Given the description of an element on the screen output the (x, y) to click on. 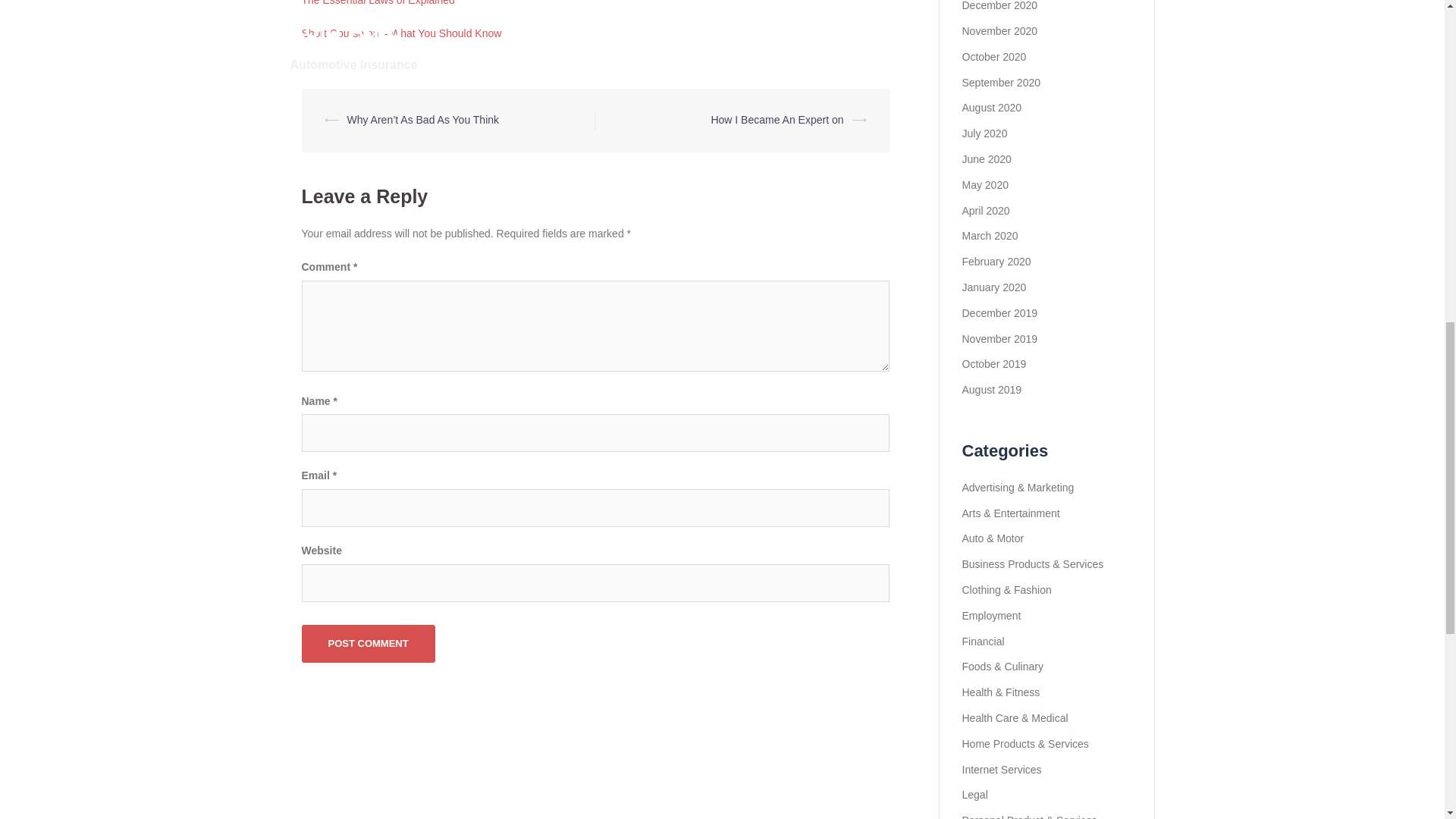
September 2020 (1000, 82)
December 2020 (998, 5)
July 2020 (983, 133)
Post Comment (368, 643)
May 2020 (983, 184)
August 2020 (991, 107)
How I Became An Expert on (776, 119)
March 2020 (988, 235)
April 2020 (984, 210)
The Essential Laws of Explained (377, 2)
November 2020 (998, 30)
Post Comment (368, 643)
October 2020 (993, 56)
June 2020 (985, 159)
